Given the description of an element on the screen output the (x, y) to click on. 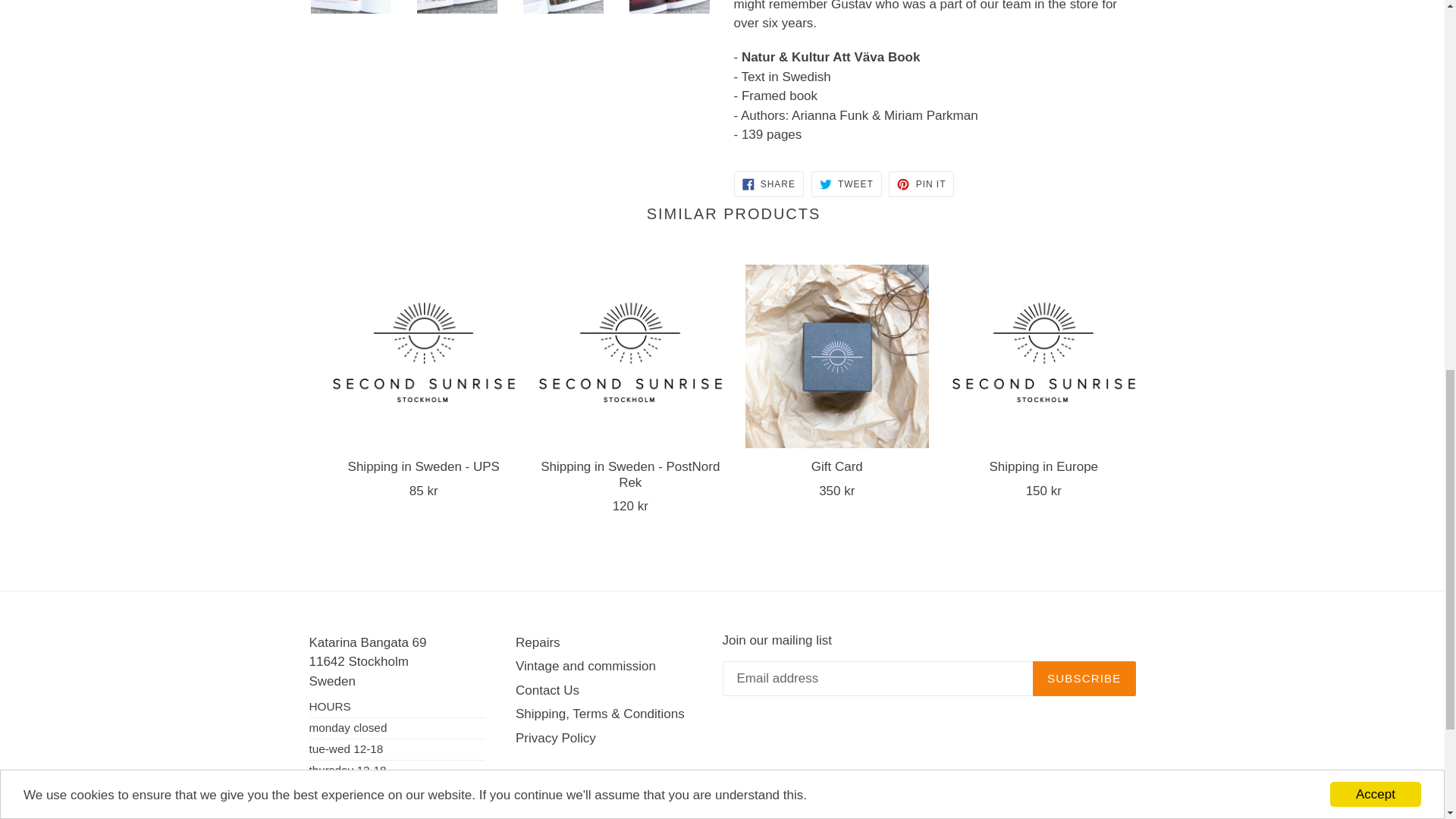
Share on Facebook (768, 184)
Tweet on Twitter (846, 184)
Pin on Pinterest (920, 184)
